Given the description of an element on the screen output the (x, y) to click on. 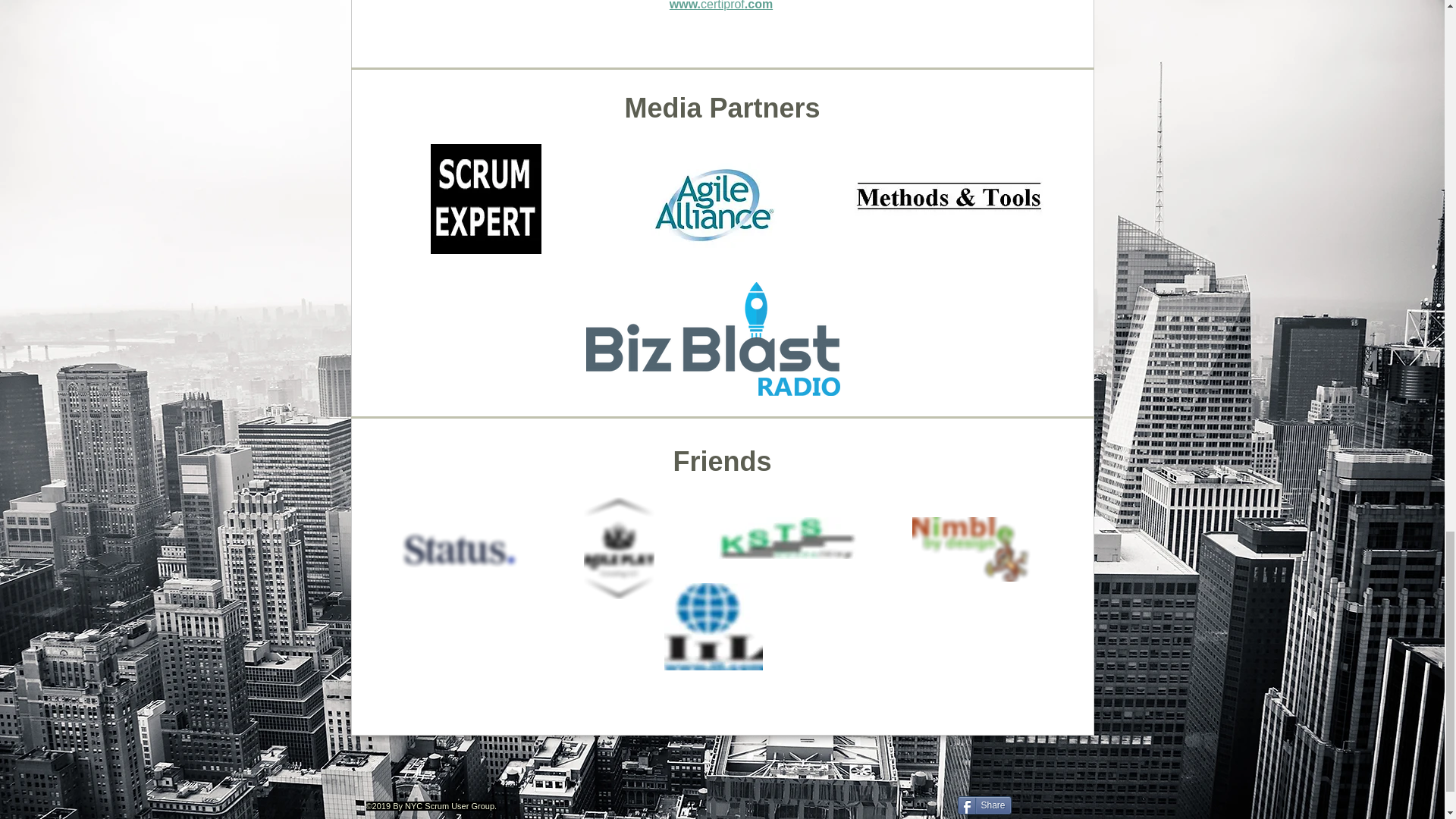
Twitter Tweet (1045, 804)
Share (983, 805)
.com (758, 5)
Share (983, 805)
www. (684, 5)
certiprof (722, 5)
